Given the description of an element on the screen output the (x, y) to click on. 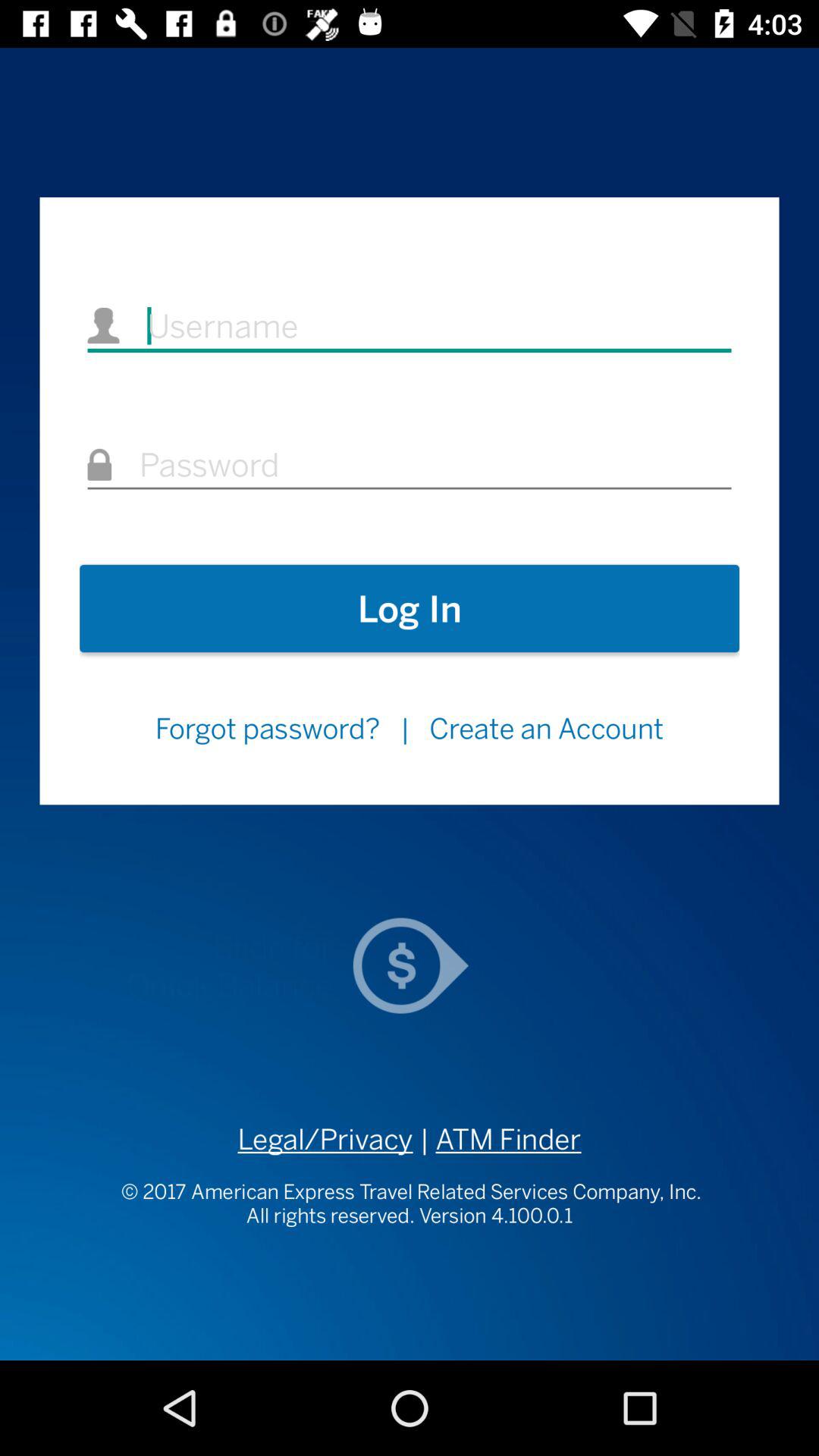
tap item next to the | item (546, 728)
